Given the description of an element on the screen output the (x, y) to click on. 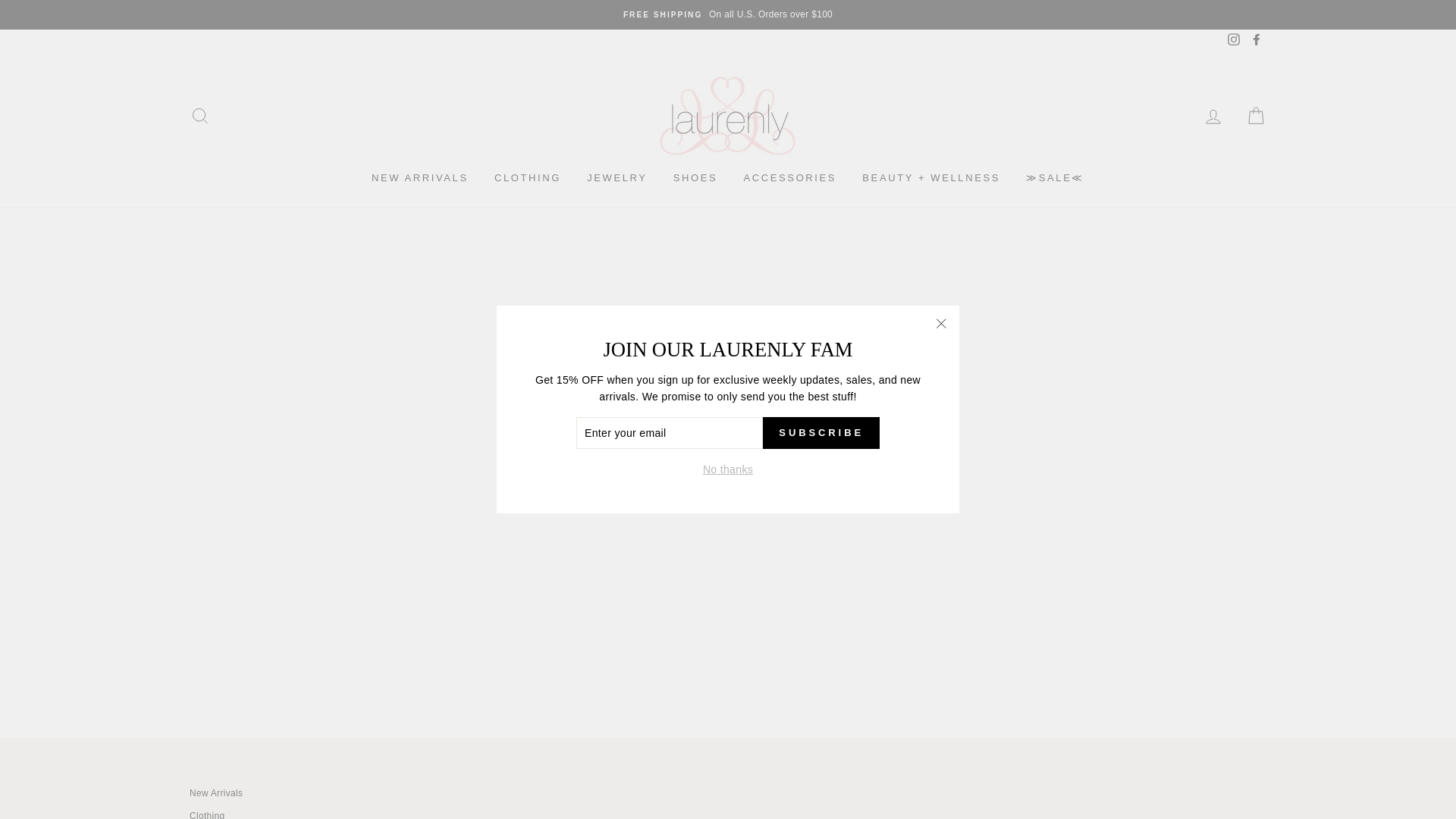
Laurenly Boutique on Facebook (1256, 40)
Laurenly Boutique on Instagram (1233, 40)
